Given the description of an element on the screen output the (x, y) to click on. 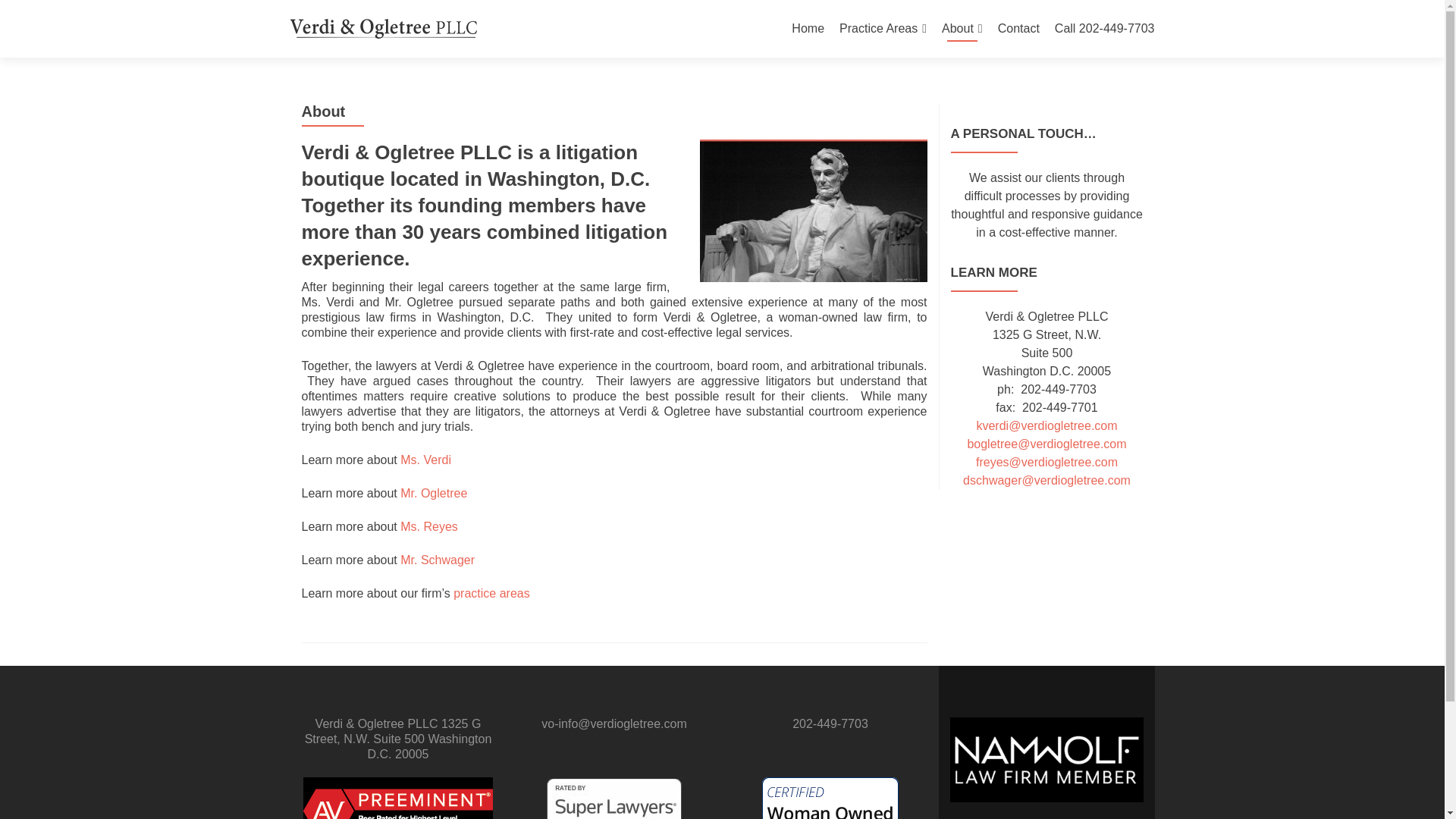
202-449-7703 (829, 723)
Ms. Reyes (429, 526)
Call 202-449-7703 (1104, 28)
Ms. Verdi (425, 459)
Home (808, 28)
practice areas (490, 593)
Contact (1018, 28)
Mr. Schwager (437, 559)
Mr. Ogletree (433, 492)
Practice Areas (883, 28)
About (962, 28)
